Given the description of an element on the screen output the (x, y) to click on. 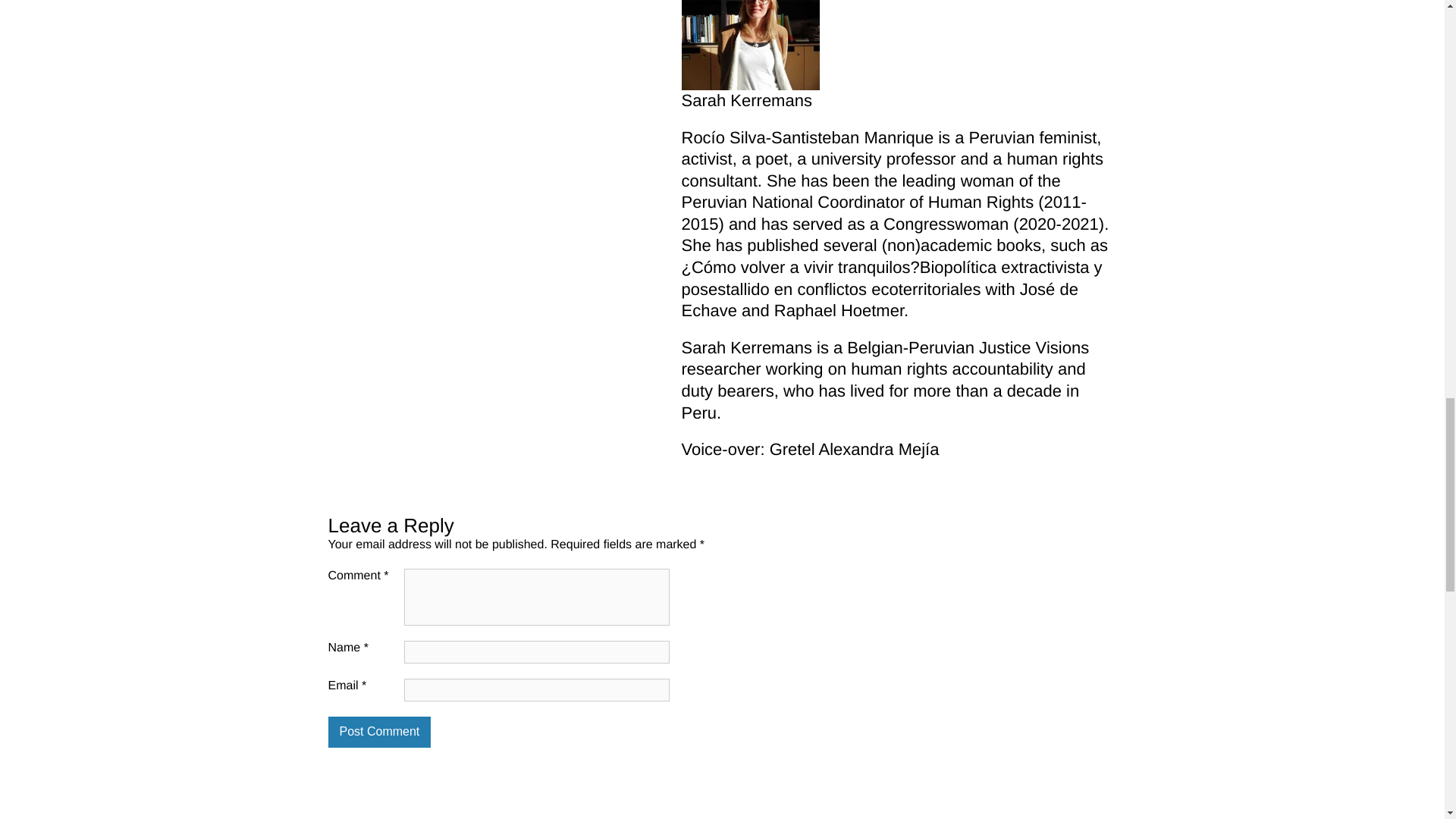
Post Comment (378, 731)
Post Comment (378, 731)
